Given the description of an element on the screen output the (x, y) to click on. 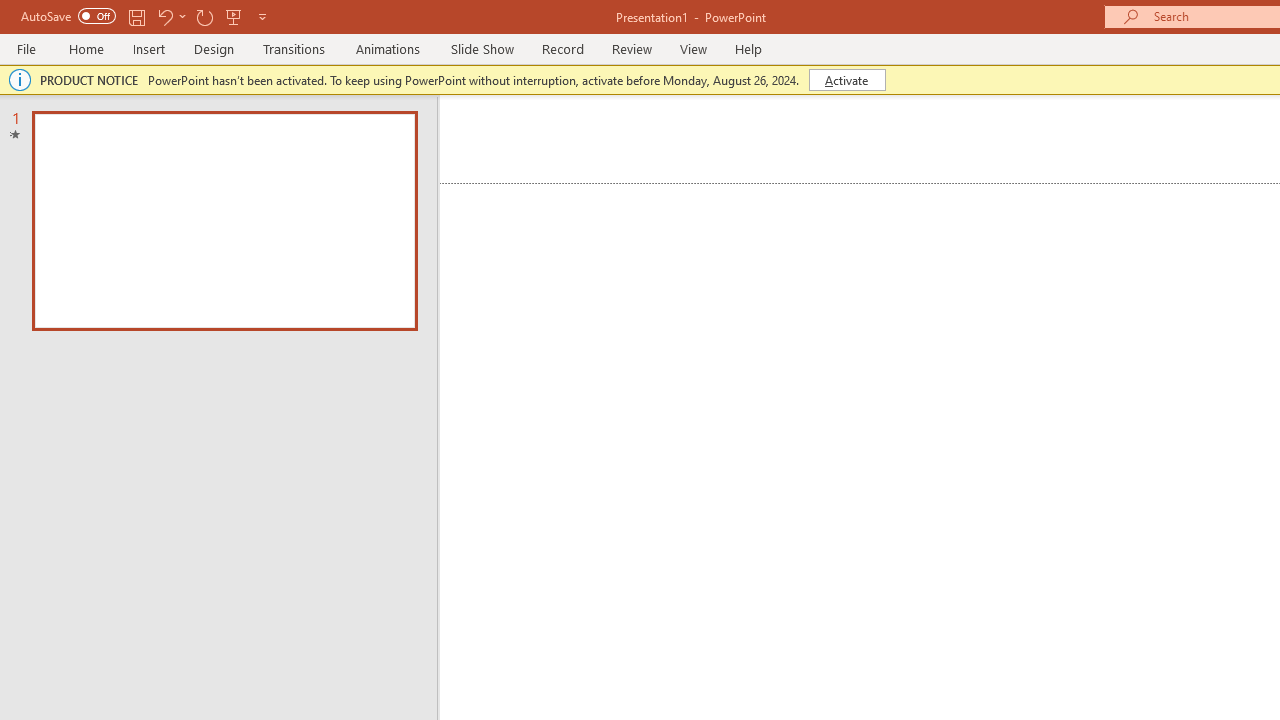
Activate (846, 79)
